Given the description of an element on the screen output the (x, y) to click on. 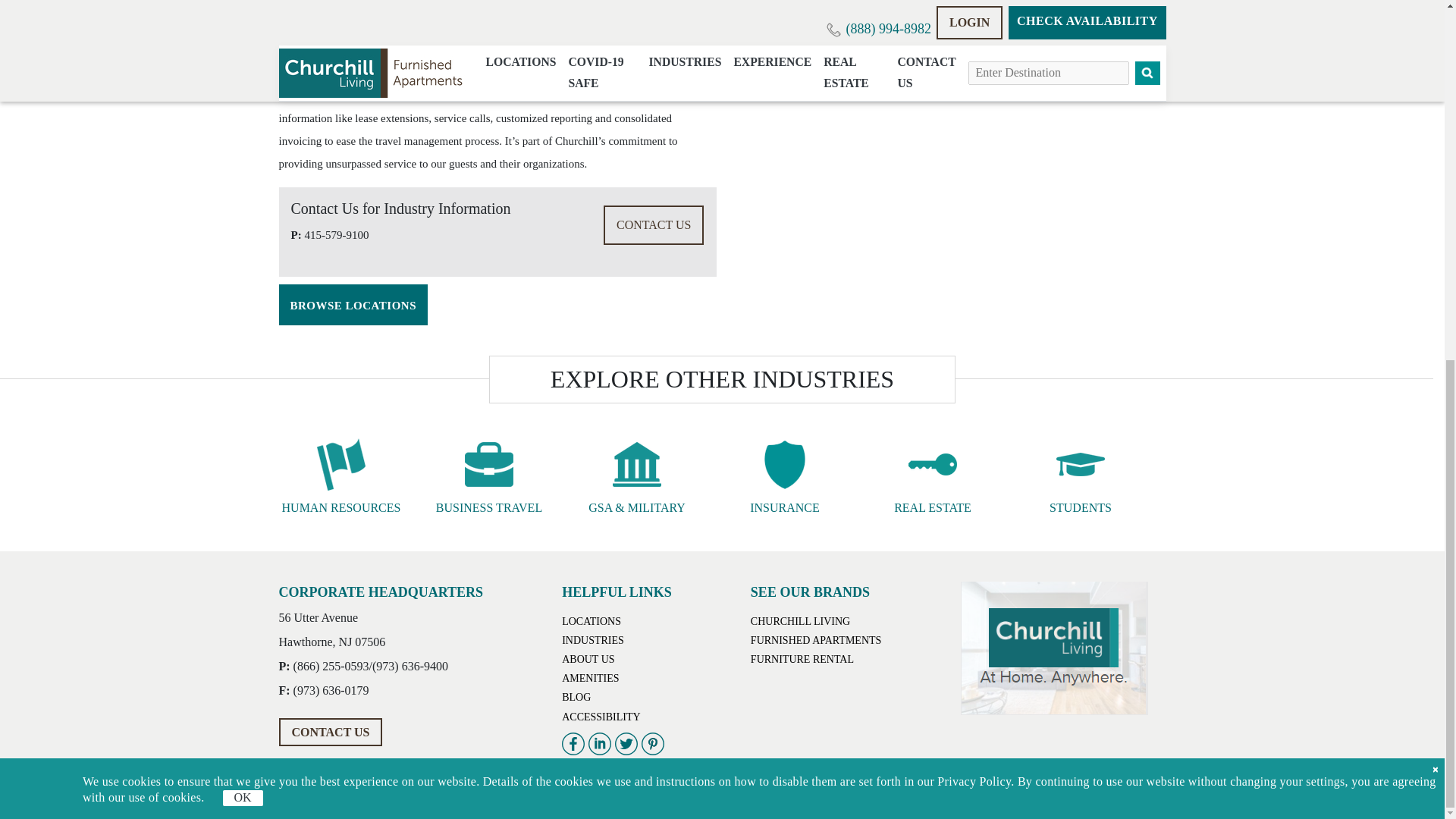
Pinterest (652, 743)
ABOUT US (588, 659)
BROWSE LOCATIONS (353, 304)
Insurance (784, 464)
CONTACT US (330, 732)
INDUSTRIES (593, 640)
BUSINESS TRAVEL (488, 474)
STUDENTS (1079, 474)
Churchill Living - At Home. Anywhere. (1053, 647)
HUMAN RESOURCES (341, 474)
REAL ESTATE (932, 474)
CONTACT US (653, 224)
Twitter (625, 743)
LinkedIn (599, 743)
INSURANCE (784, 474)
